Given the description of an element on the screen output the (x, y) to click on. 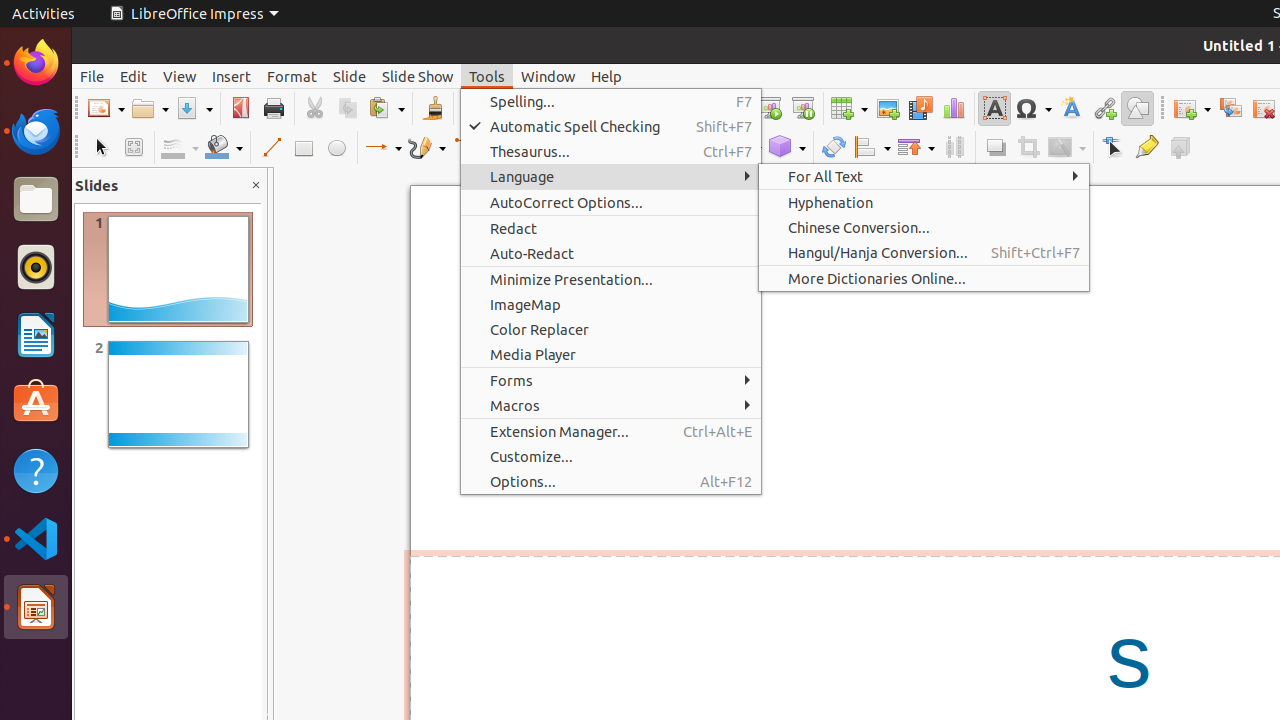
Ubuntu Software Element type: push-button (36, 402)
Zoom & Pan Element type: push-button (133, 147)
Hangul/Hanja Conversion... Element type: menu-item (924, 252)
Line Color Element type: push-button (180, 147)
Customize... Element type: menu-item (611, 456)
